Given the description of an element on the screen output the (x, y) to click on. 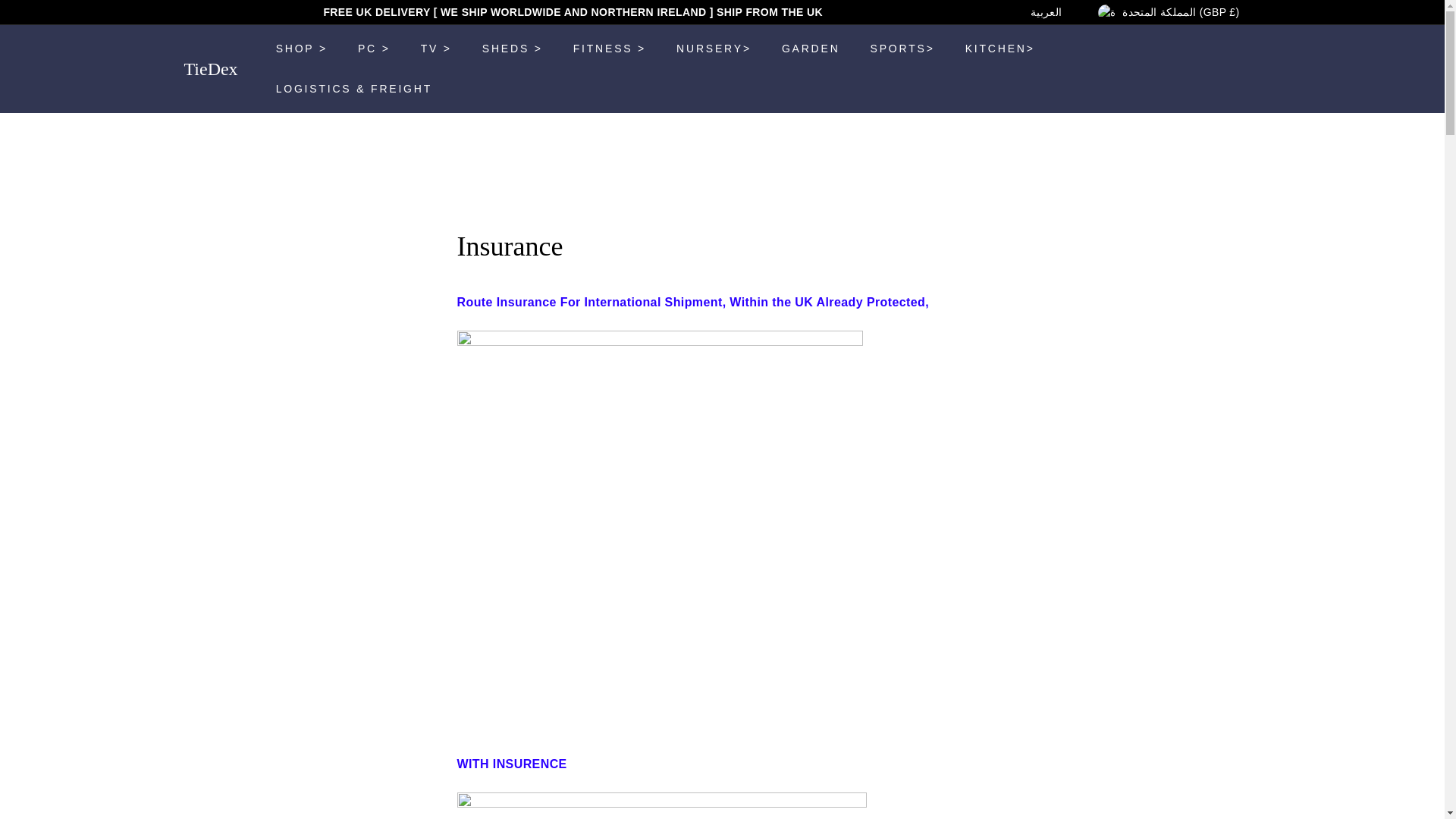
TieDex on X (980, 12)
TieDex on Facebook (972, 12)
TieDex on Instagram (996, 12)
YouTube (1003, 12)
Facebook (972, 12)
X (980, 12)
TieDex on YouTube (1003, 12)
Instagram (996, 12)
TieDex on Pinterest (988, 12)
Pinterest (988, 12)
